Given the description of an element on the screen output the (x, y) to click on. 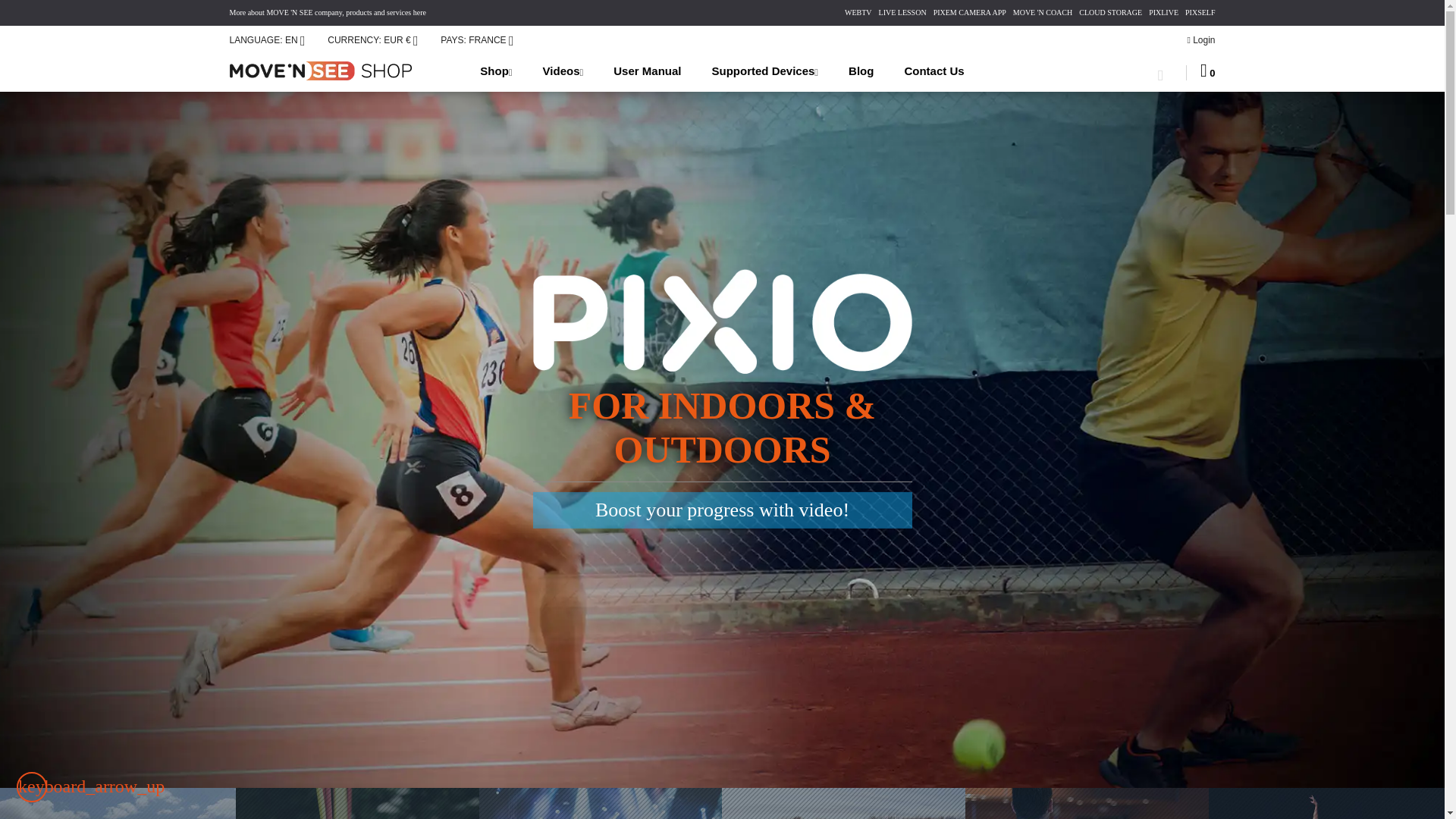
PIXIO for entertainment (600, 803)
PIXEM CAMERA APP (969, 12)
PIXLIVE (1162, 12)
More about MOVE 'N SEE company, products and services here (326, 12)
CLOUD STORAGE (1109, 12)
PIXIO for speaker and conferences (1086, 803)
WEBTV (858, 12)
MOVE 'N SEE (323, 68)
PIXIO for agility (357, 803)
PIXIO for horse riding (117, 803)
PIXIO for ice skating (843, 803)
LIVE LESSON (902, 12)
PIXSELF (1199, 12)
Log in to your customer account (1200, 40)
MOVE 'N COACH (1042, 12)
